Given the description of an element on the screen output the (x, y) to click on. 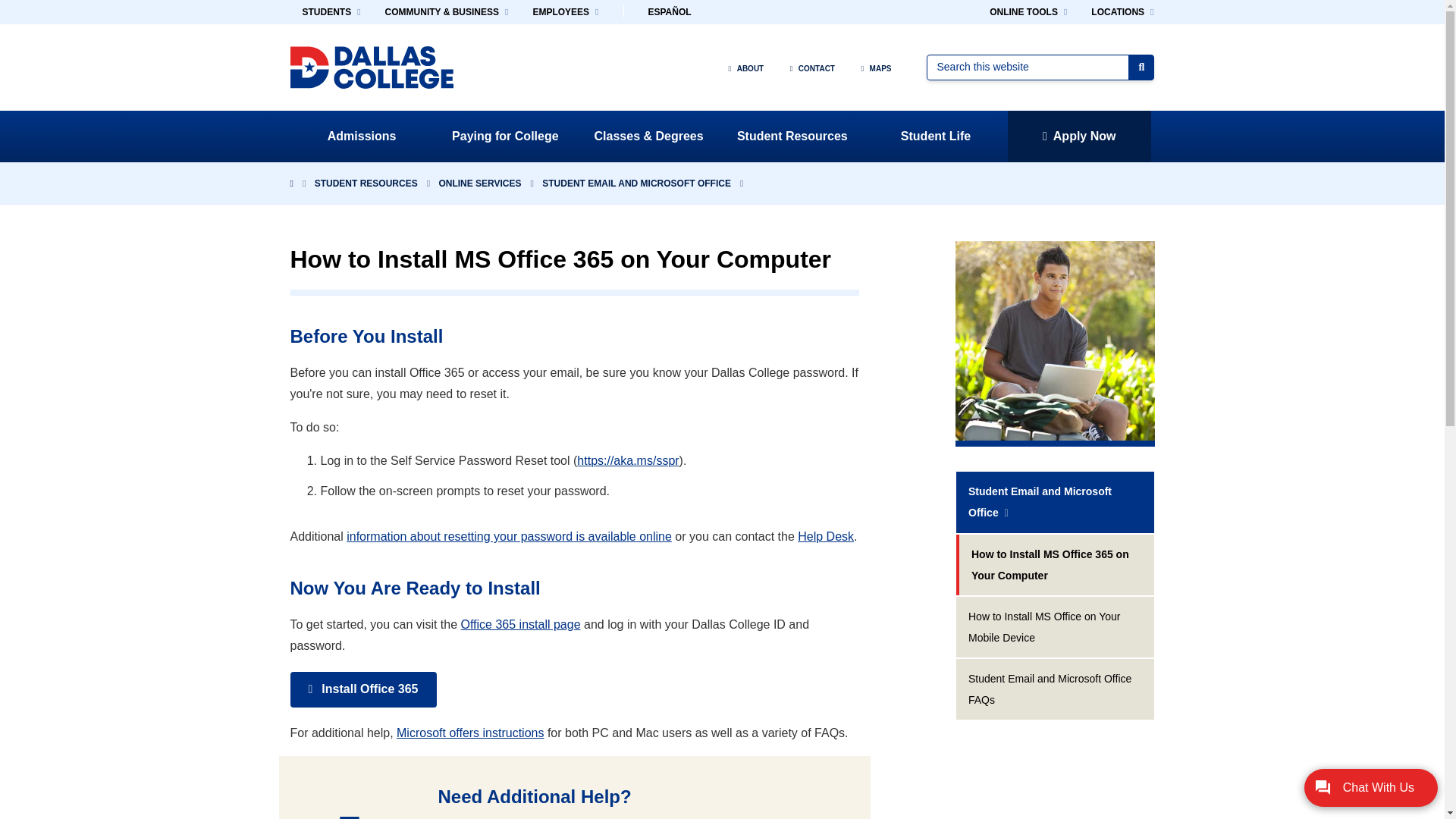
EMPLOYEES (564, 12)
ONLINE TOOLS (1027, 12)
STUDENTS (330, 12)
LOCATIONS (1122, 12)
migrated (1055, 689)
